Given the description of an element on the screen output the (x, y) to click on. 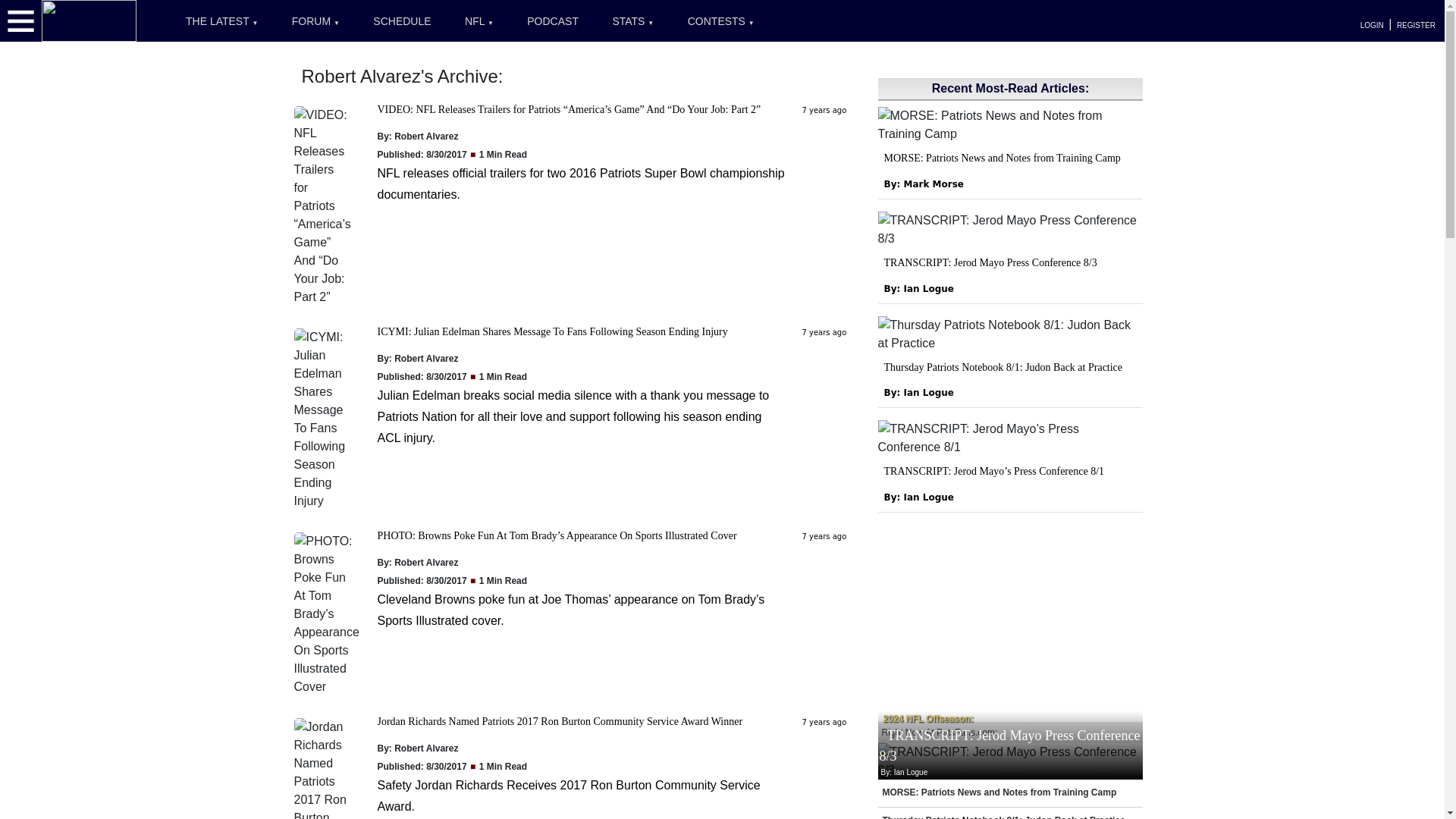
MORSE: Patriots News and Notes from Training Camp (1002, 157)
PODCAST (553, 21)
SCHEDULE (401, 21)
PatsFans.com (89, 19)
